Given the description of an element on the screen output the (x, y) to click on. 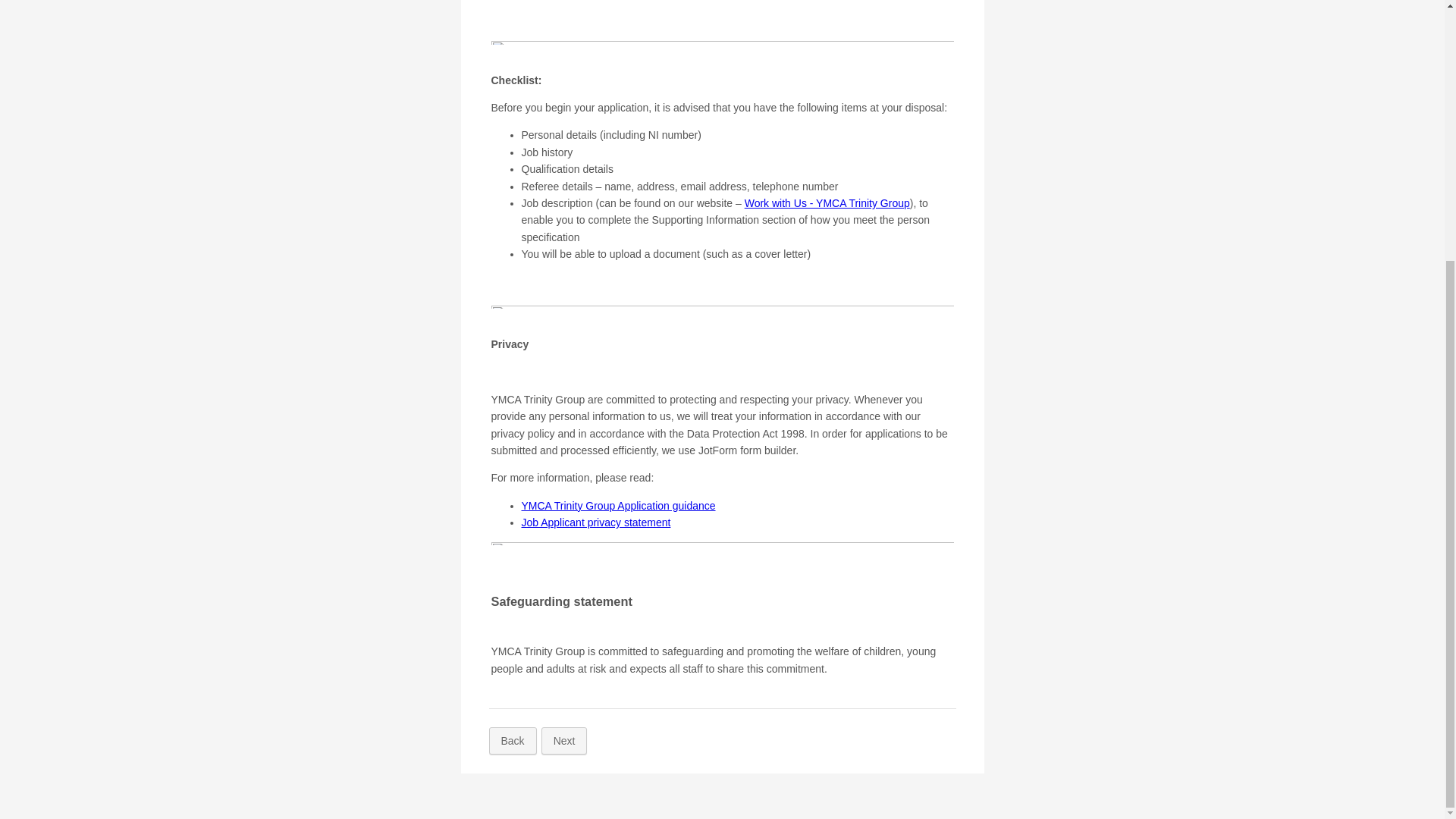
Next (564, 740)
Job Applicant privacy statement (596, 522)
Back (511, 740)
YMCA Trinity Group Application guidance (618, 505)
Work with Us - YMCA Trinity Group (827, 203)
